Given the description of an element on the screen output the (x, y) to click on. 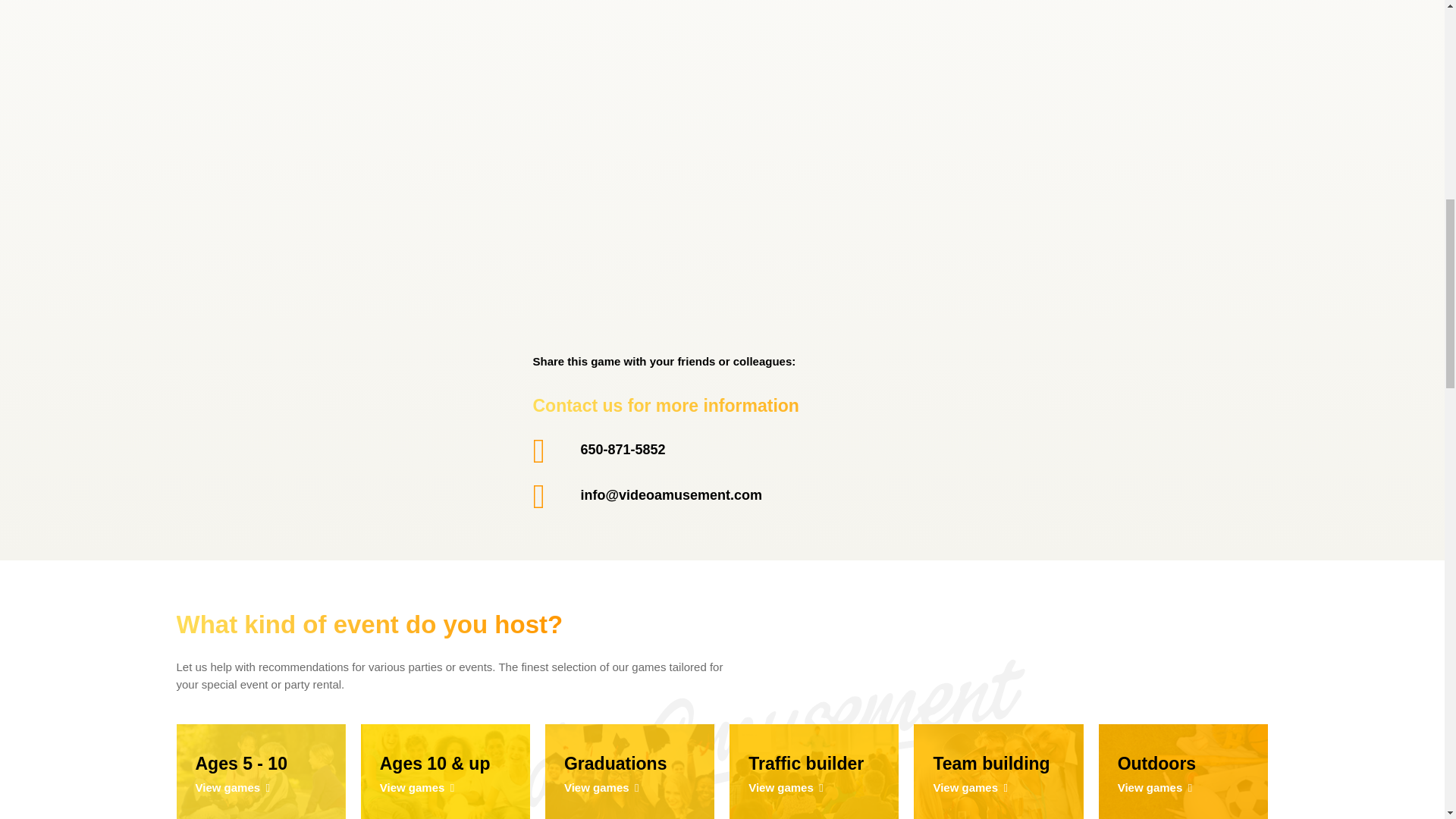
650-871-5852 (629, 771)
